Given the description of an element on the screen output the (x, y) to click on. 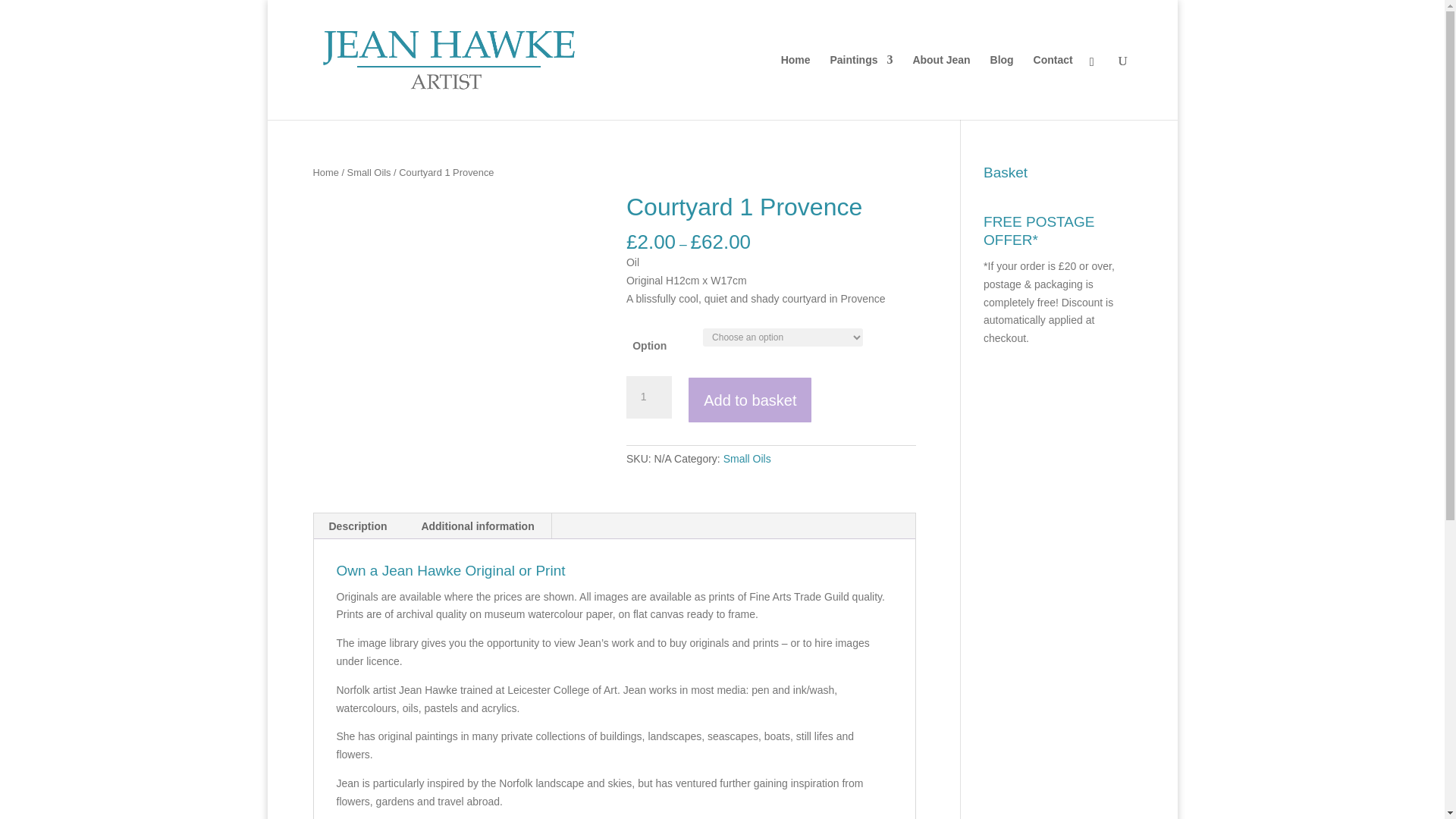
Paintings (860, 86)
Description (358, 525)
Contact (1053, 86)
Home (325, 172)
Add to basket (749, 399)
Small Oils (747, 458)
Additional information (477, 525)
Home (795, 86)
1 (648, 396)
Blog (1001, 86)
Small Oils (369, 172)
About Jean (940, 86)
